Given the description of an element on the screen output the (x, y) to click on. 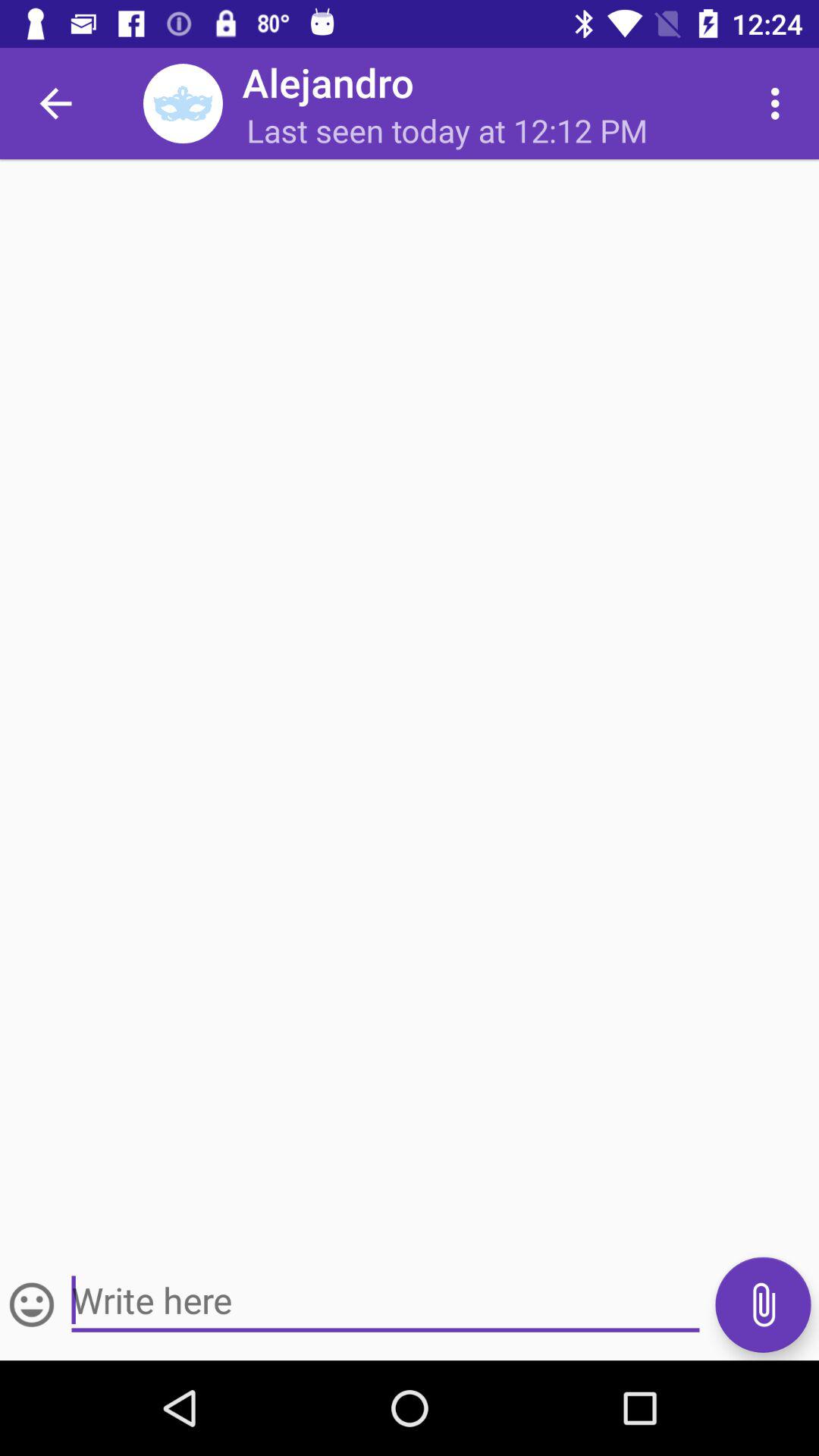
area to write a message (385, 1300)
